Given the description of an element on the screen output the (x, y) to click on. 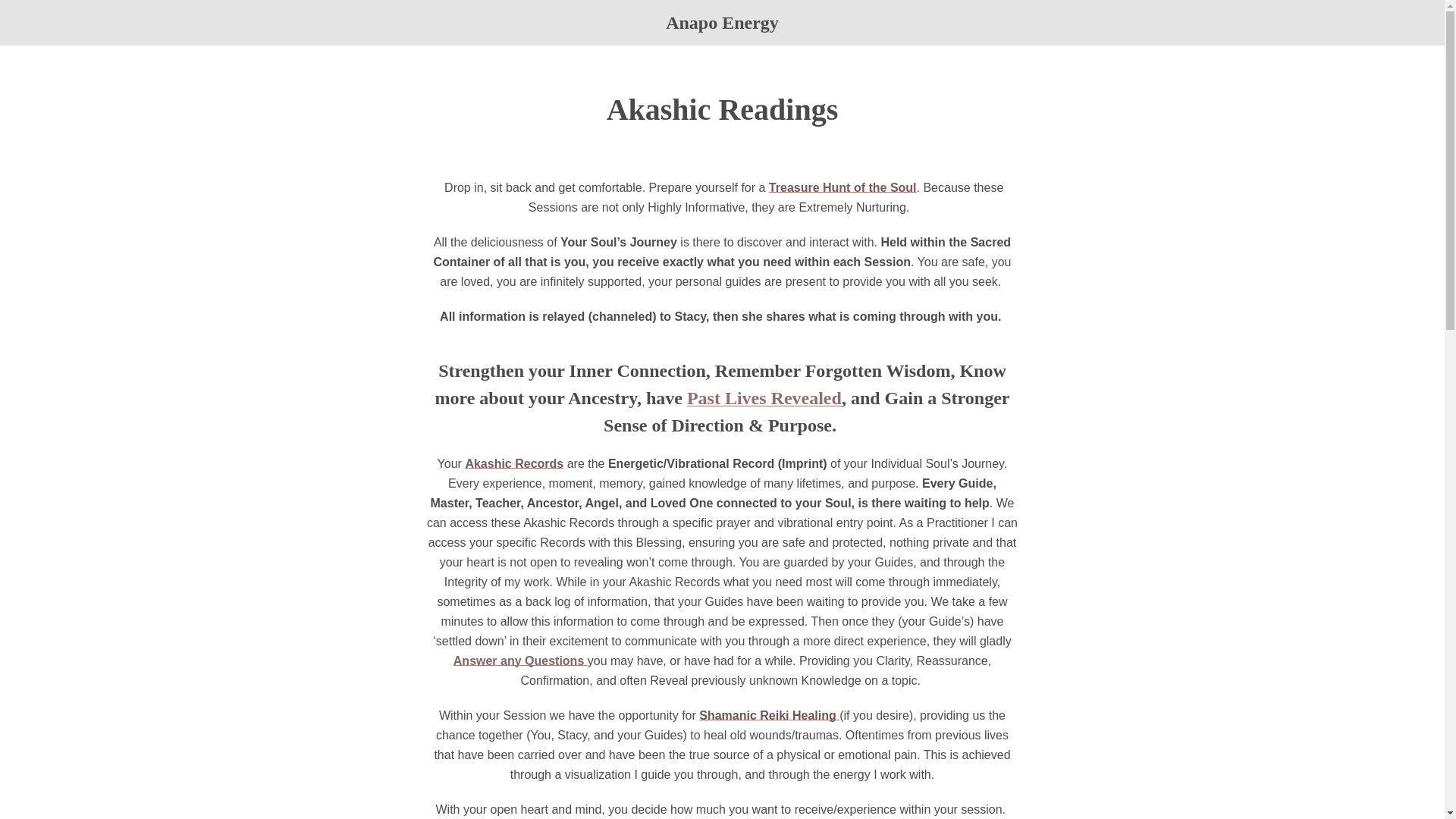
Instagram (372, 776)
Anapo Energy (721, 23)
Answer any Questions (520, 660)
Akashic Records Reading (842, 187)
Anapo Energy (715, 777)
TERMS OF SERVICE (763, 716)
Powered by Shopify (796, 777)
Treasure Hunt of the Soul (842, 187)
Anapo Energy on Instagram (372, 776)
EXPAND NAVIGATION (384, 22)
Akashic Records Readings (513, 463)
DISCLAIMER (662, 716)
Shamanic Reiki (769, 715)
Akashic Records (513, 463)
Soul Excursion (764, 397)
